Given the description of an element on the screen output the (x, y) to click on. 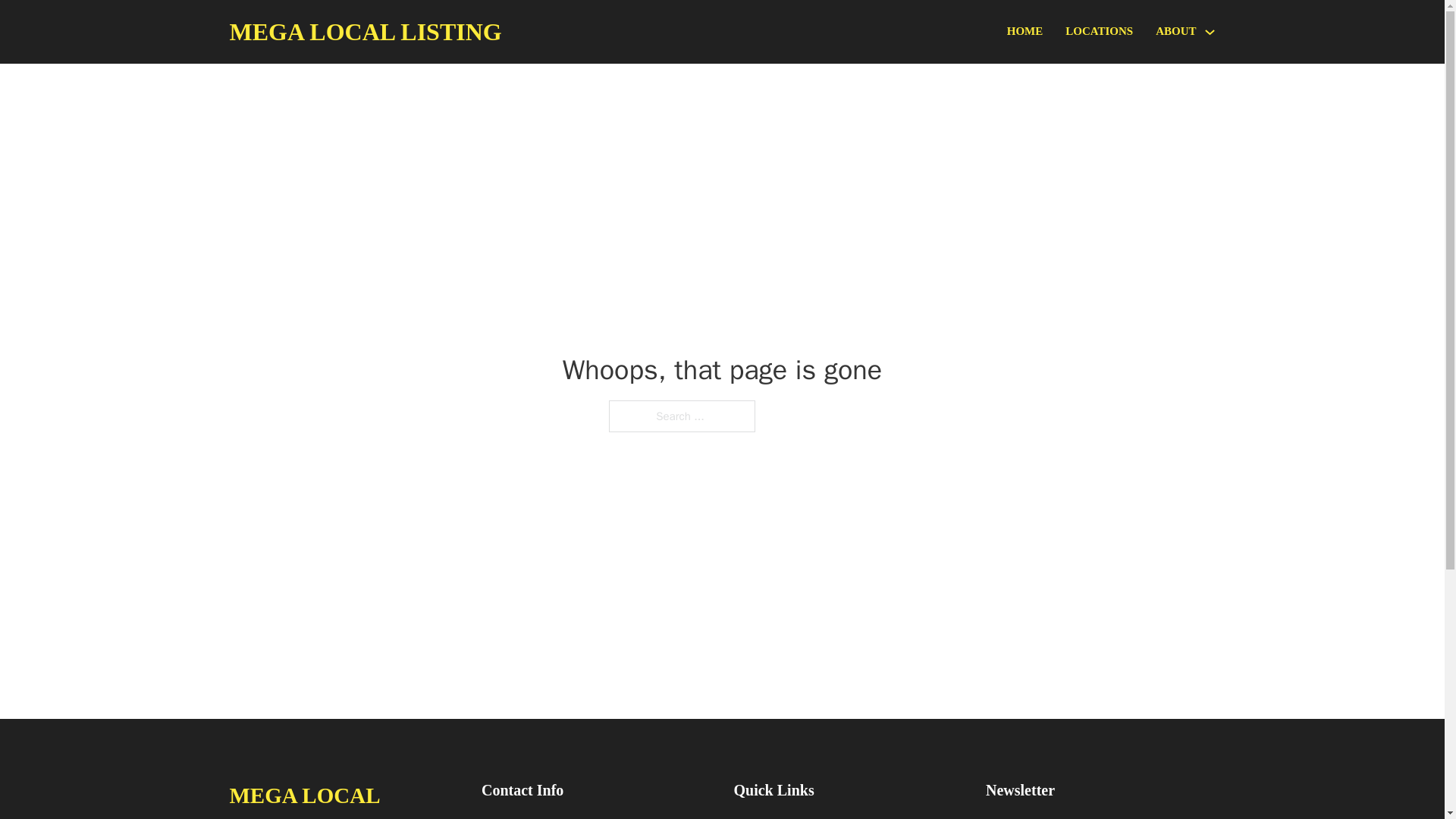
MEGA LOCAL LISTING (343, 798)
MEGA LOCAL LISTING (364, 31)
HOME (1025, 31)
LOCATIONS (1098, 31)
